Given the description of an element on the screen output the (x, y) to click on. 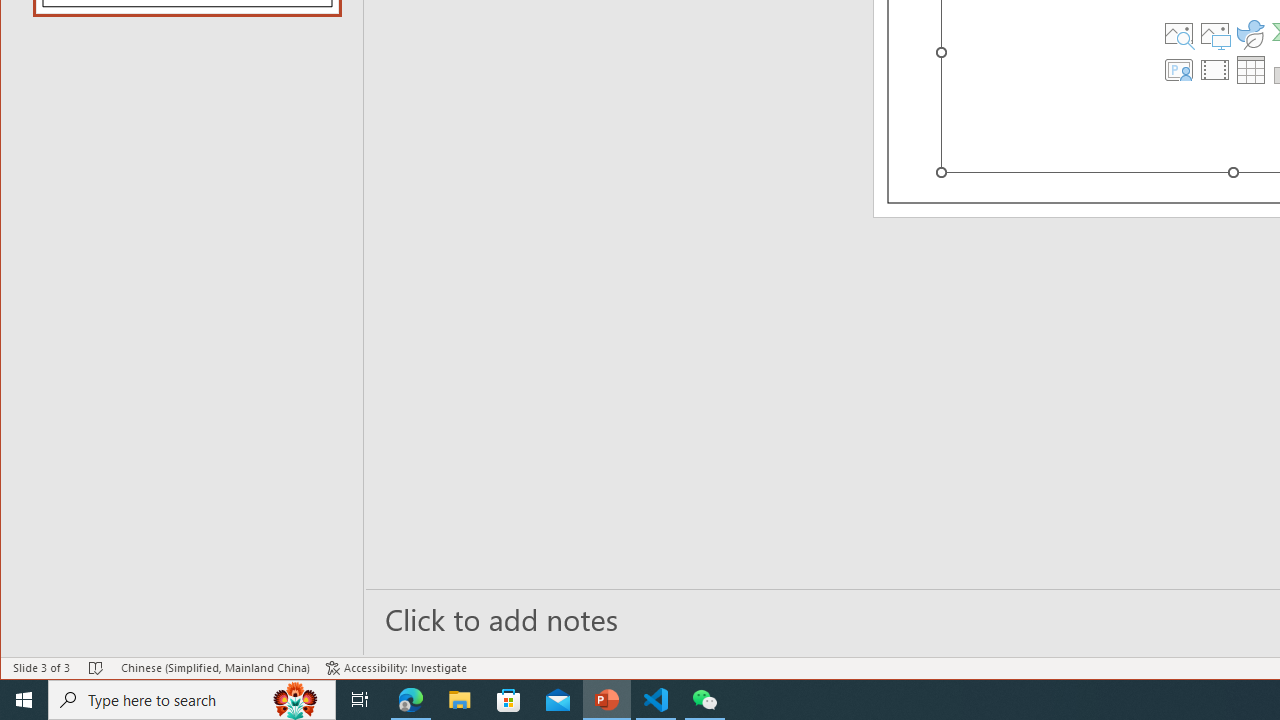
WeChat - 1 running window (704, 699)
Stock Images (1179, 33)
Pictures (1215, 33)
Insert Cameo (1179, 69)
Insert Video (1215, 69)
Insert Table (1251, 69)
